Given the description of an element on the screen output the (x, y) to click on. 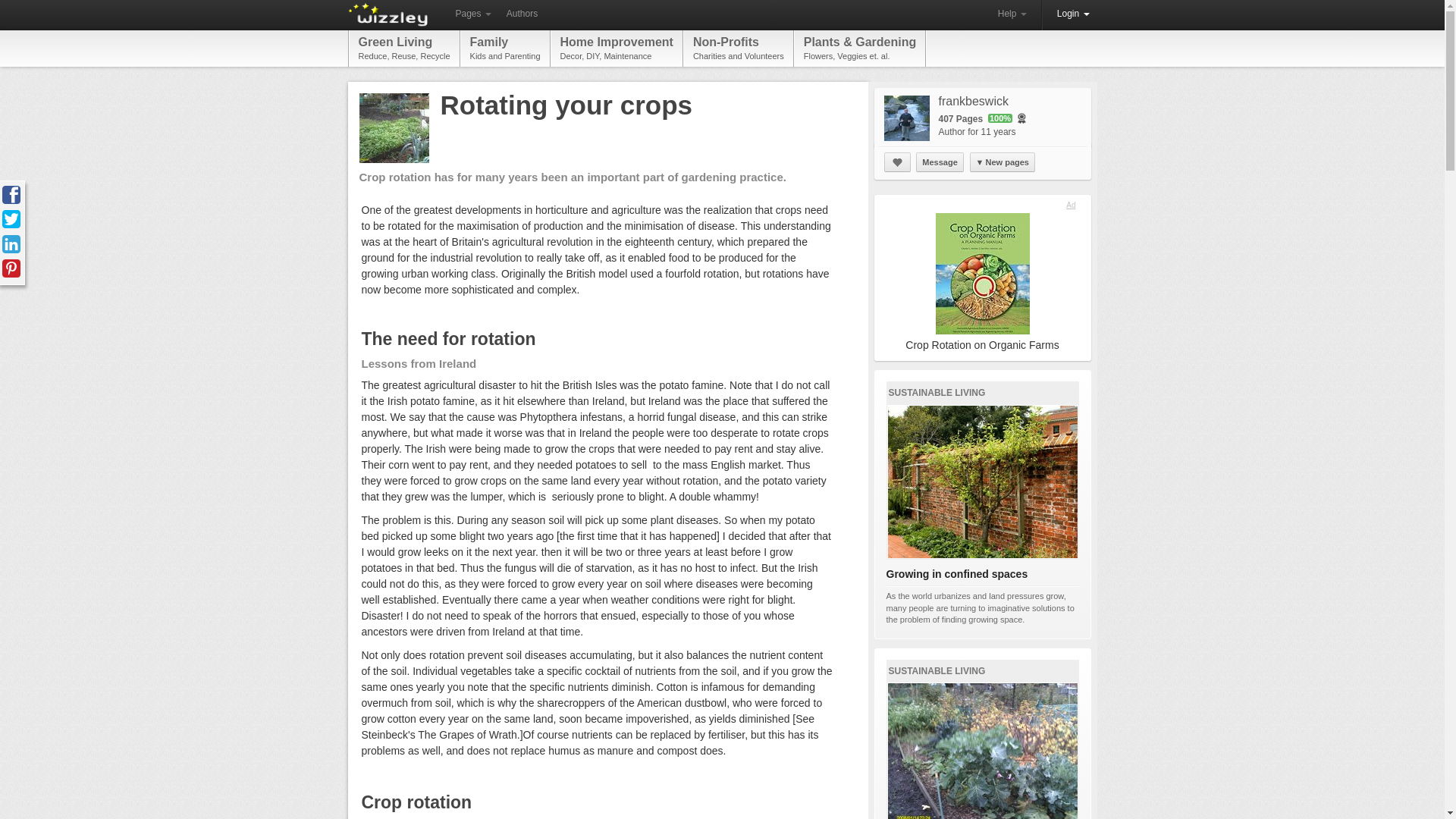
Pages (616, 48)
Authors (471, 14)
Login (737, 48)
Follow (521, 14)
Help (404, 48)
Excellent author (1073, 14)
